Given the description of an element on the screen output the (x, y) to click on. 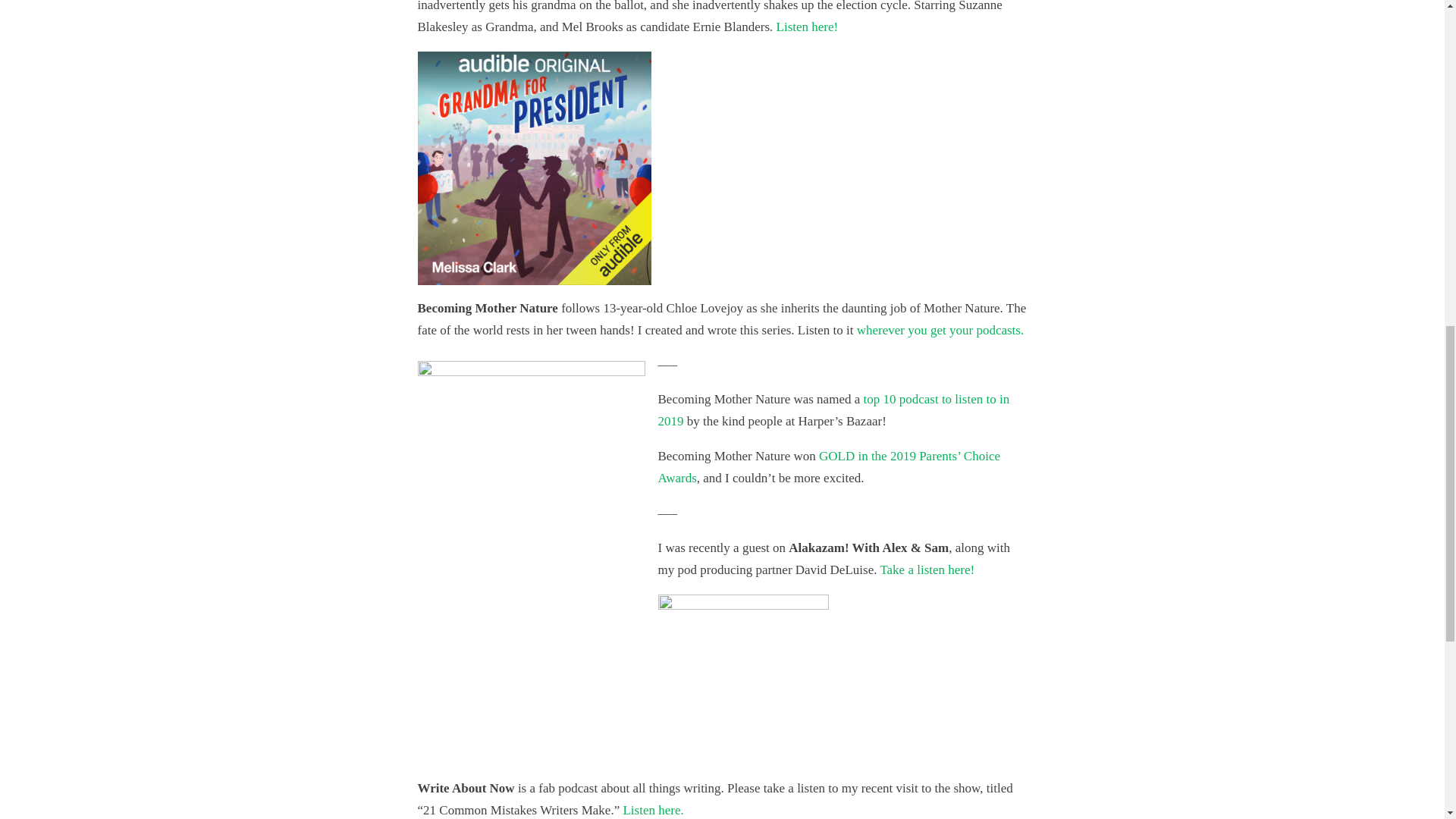
Take a listen here! (926, 569)
wherever you get your podcasts. (940, 329)
Listen here! (807, 26)
Listen here. (652, 809)
top 10 podcast to listen to in 2019 (834, 410)
